Given the description of an element on the screen output the (x, y) to click on. 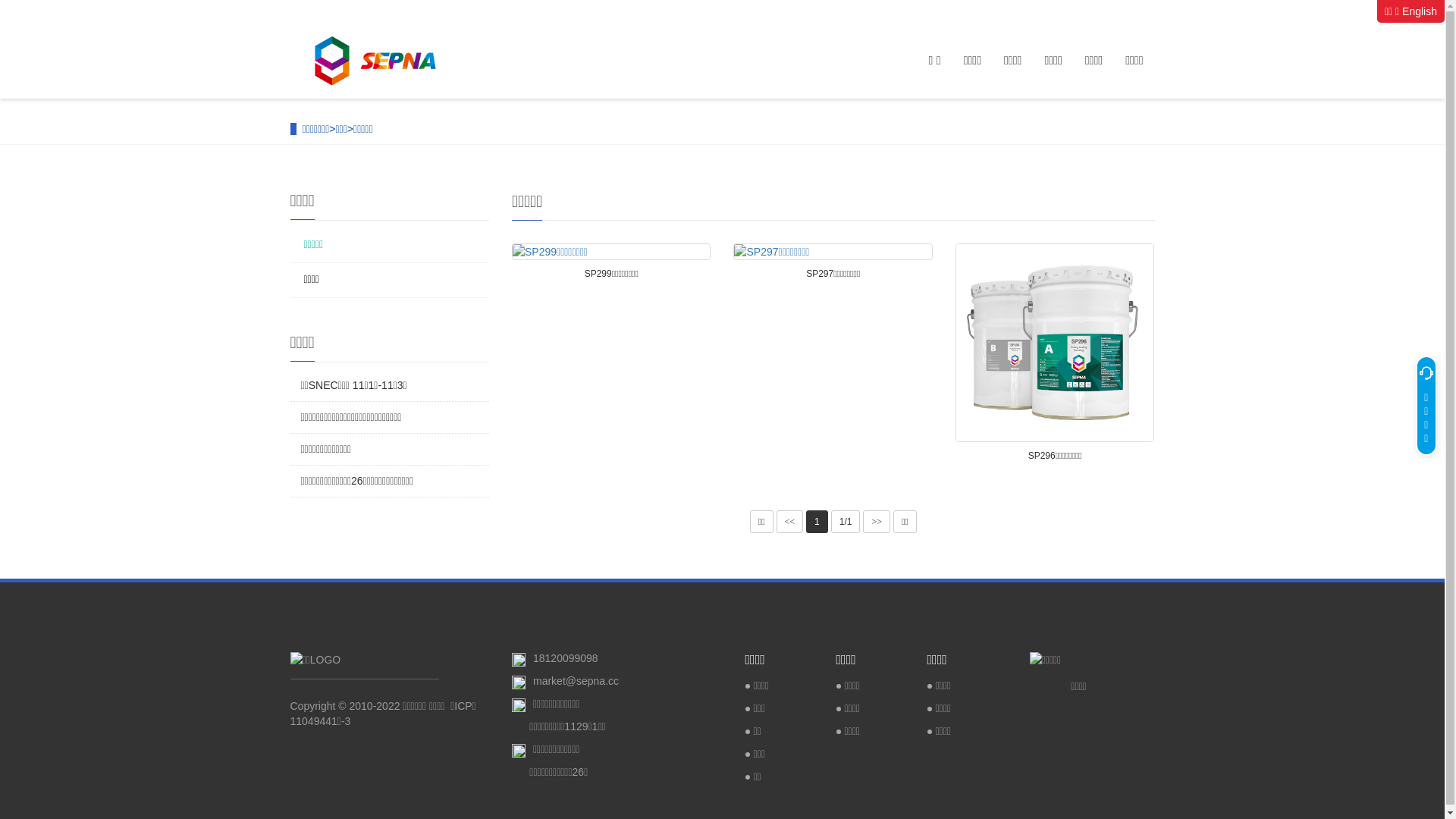
1 Element type: text (817, 521)
English Element type: text (1419, 11)
<< Element type: text (789, 521)
1/1 Element type: text (845, 521)
>> Element type: text (876, 521)
